Given the description of an element on the screen output the (x, y) to click on. 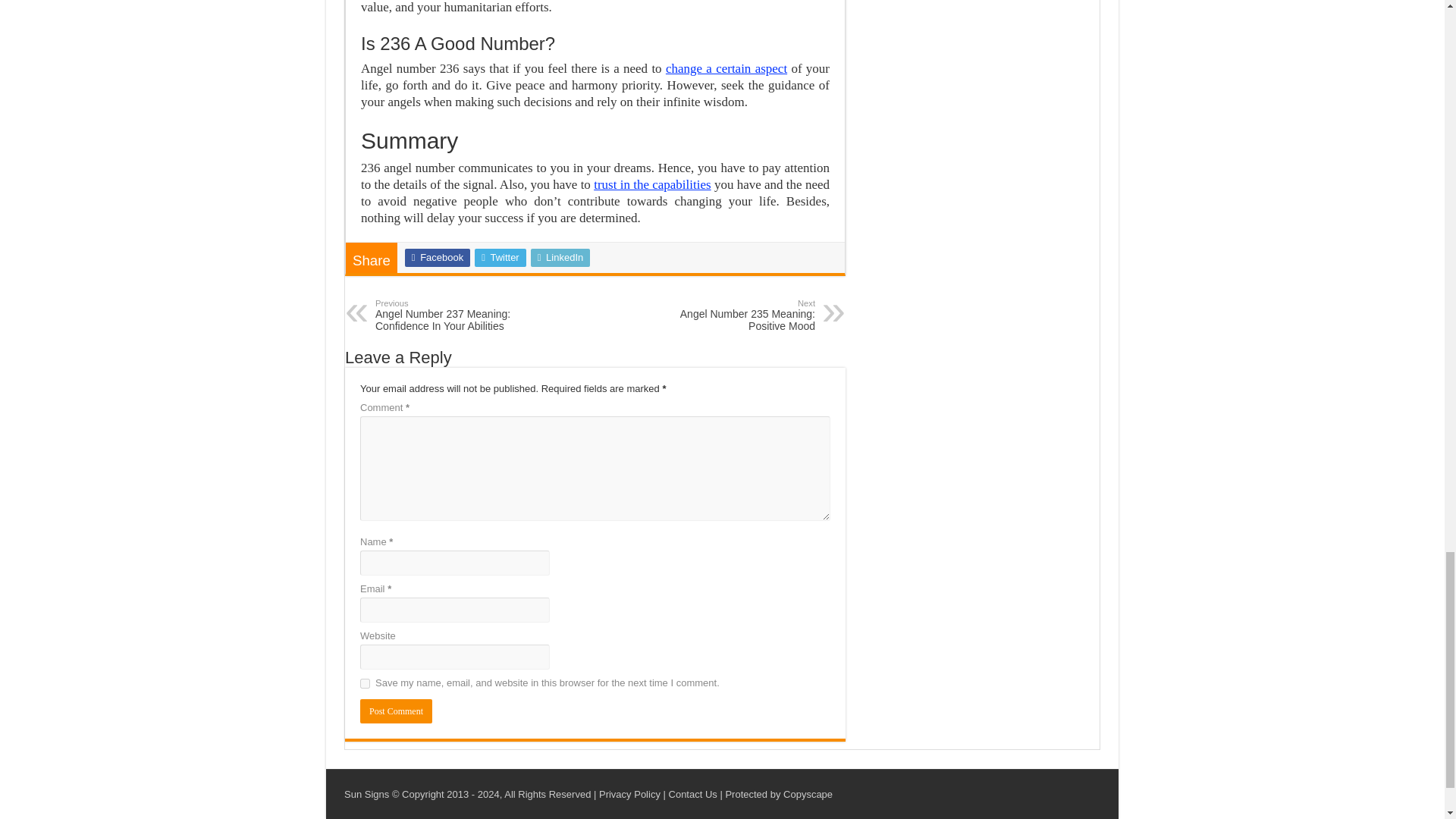
Post Comment (395, 711)
Facebook (437, 257)
Twitter (499, 257)
yes (364, 683)
LinkedIn (561, 257)
change a certain aspect (737, 315)
trust in the capabilities (726, 68)
